Given the description of an element on the screen output the (x, y) to click on. 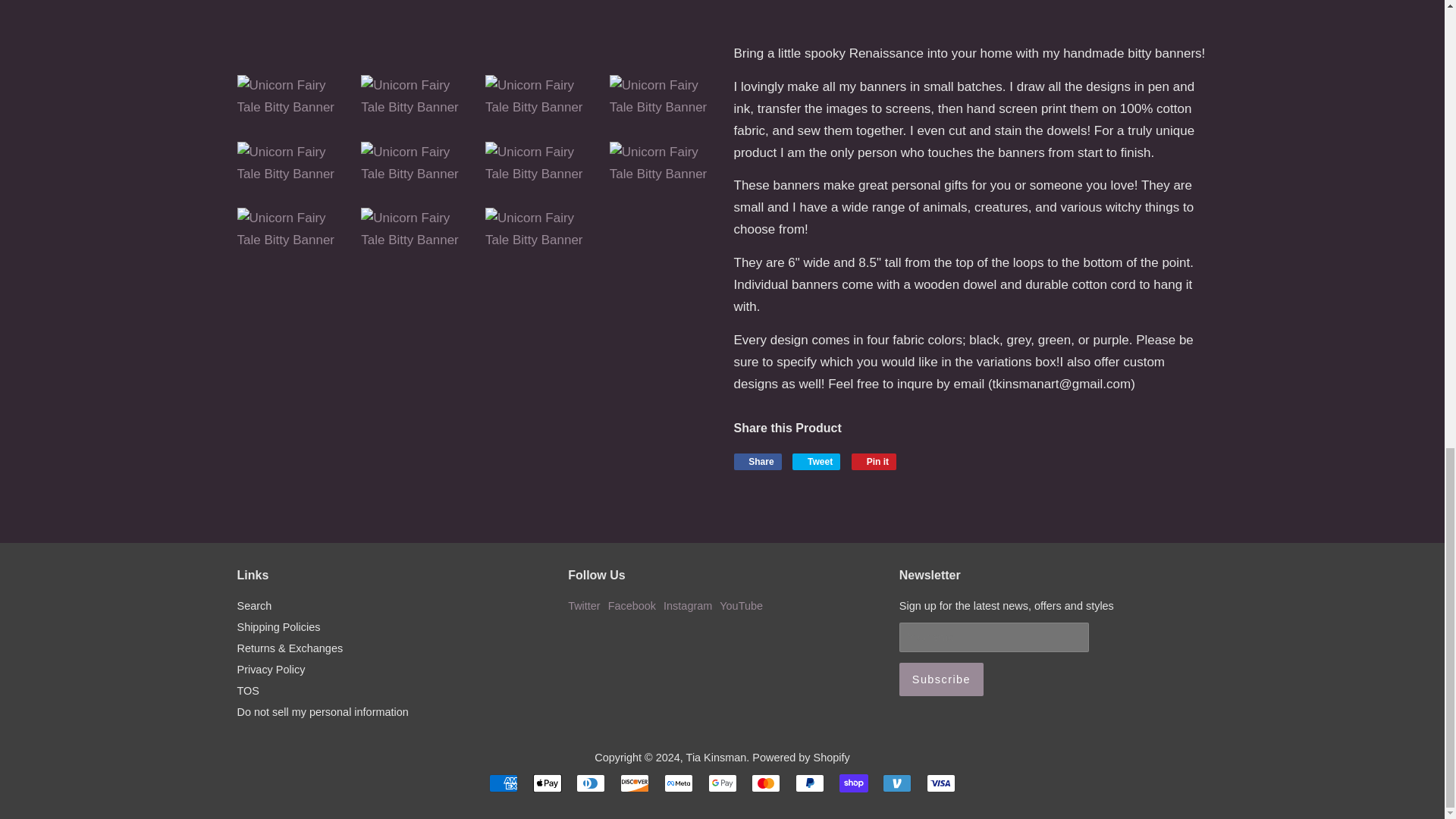
Subscribe (941, 679)
Diners Club (590, 782)
Visa (940, 782)
Tweet on Twitter (816, 461)
PayPal (809, 782)
Share on Facebook (757, 461)
American Express (503, 782)
Discover (634, 782)
Venmo (896, 782)
Meta Pay (678, 782)
Tia Kinsman on Twitter (583, 605)
Pin on Pinterest (873, 461)
Google Pay (721, 782)
Tia Kinsman on Facebook (632, 605)
Mastercard (765, 782)
